Given the description of an element on the screen output the (x, y) to click on. 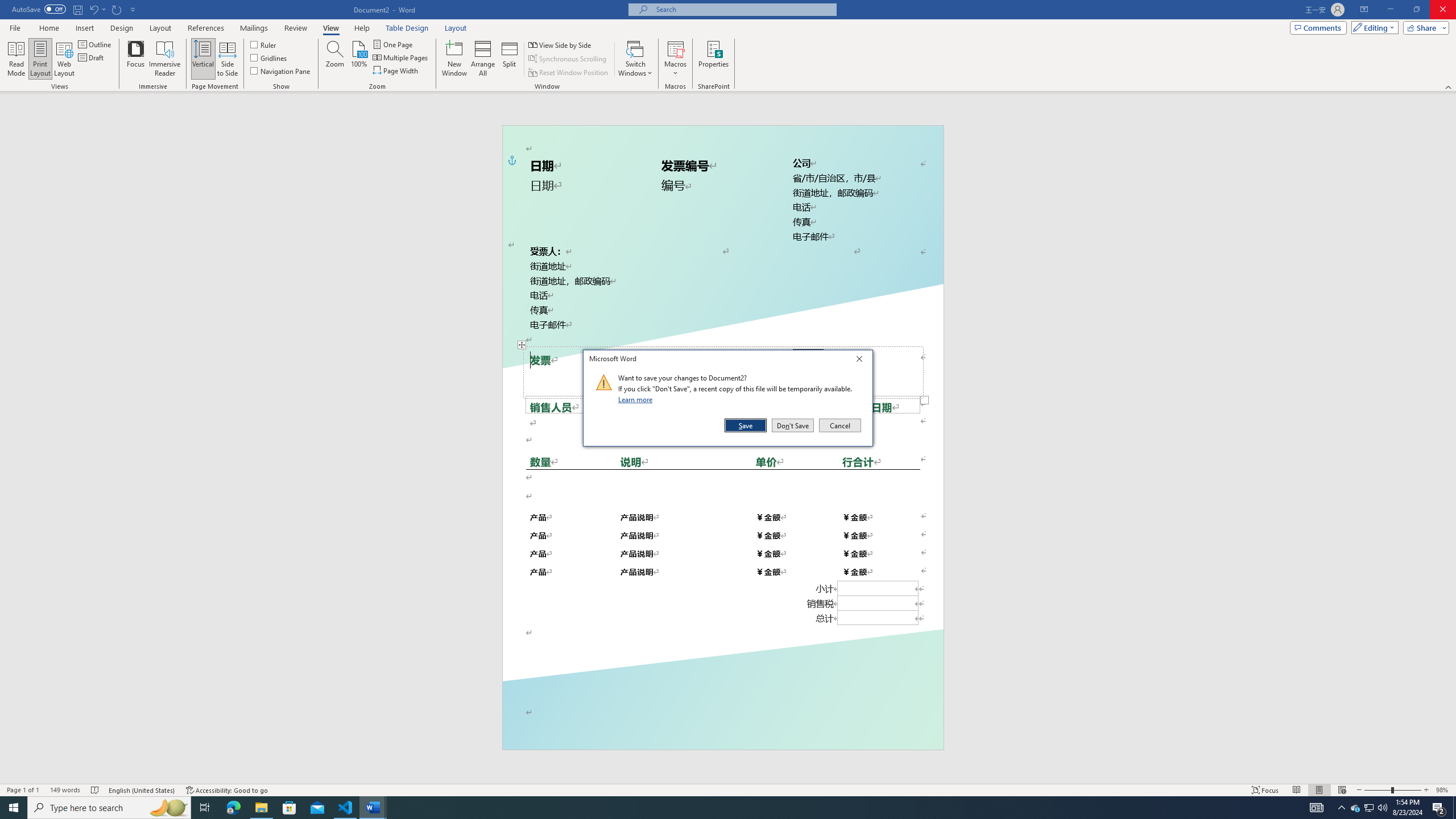
Microsoft Edge (233, 807)
Side to Side (226, 58)
Draft (91, 56)
Page Number Page 1 of 1 (22, 790)
Switch Windows (635, 58)
View Macros (675, 48)
First Page Footer -Section 1- (722, 723)
